Given the description of an element on the screen output the (x, y) to click on. 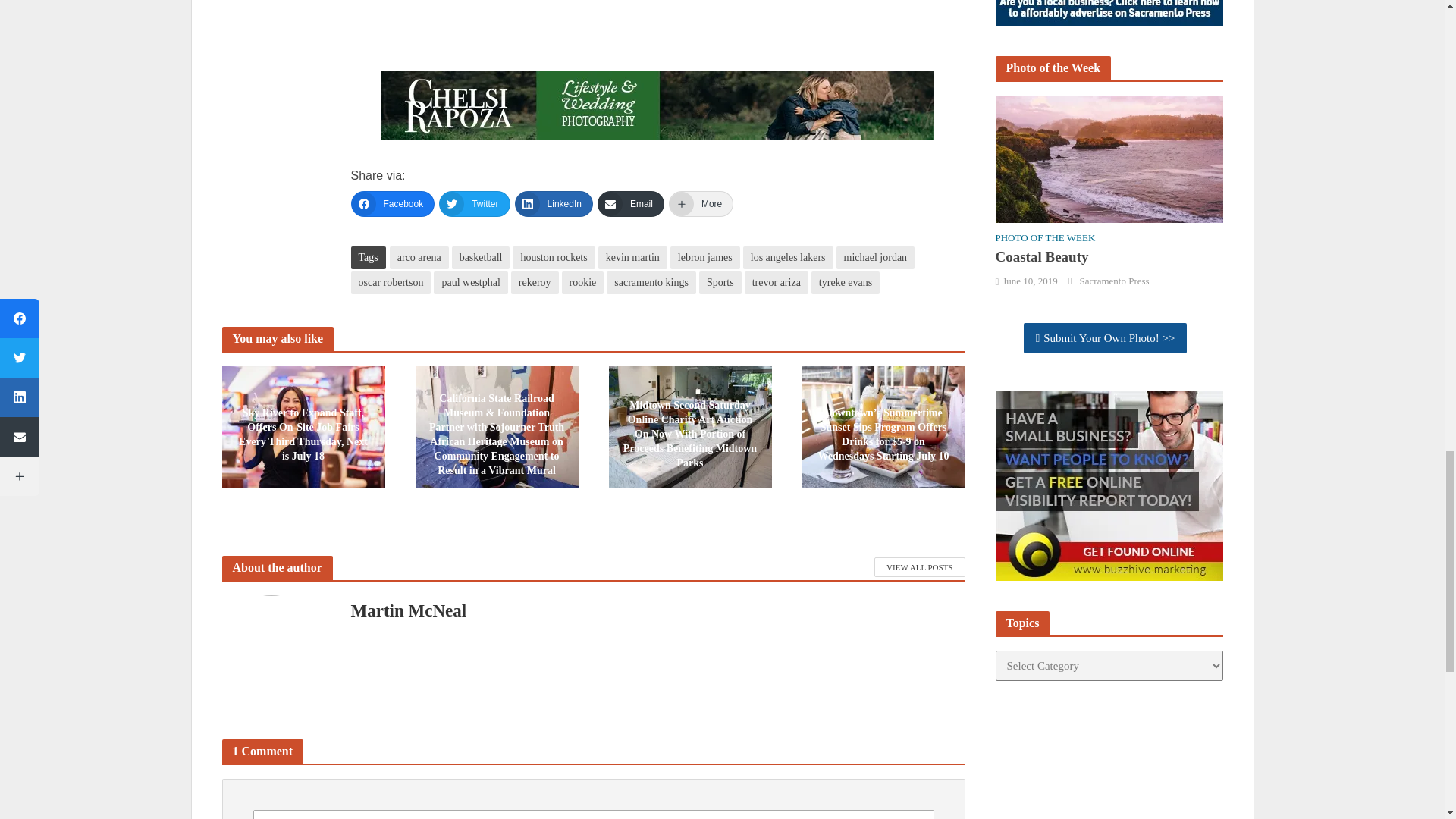
Coastal Beauty (1108, 157)
